Given the description of an element on the screen output the (x, y) to click on. 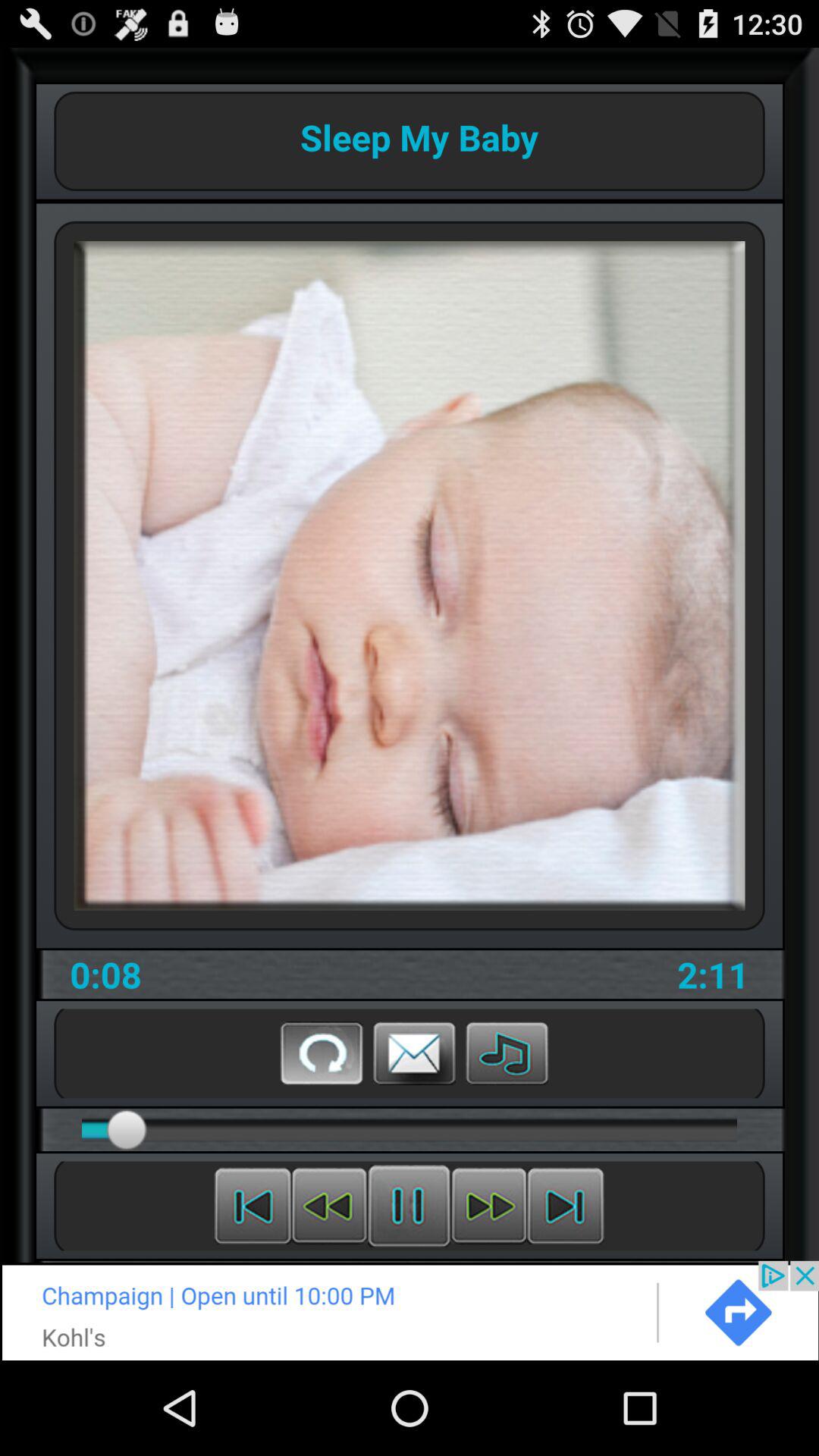
go to the beginning (252, 1205)
